Given the description of an element on the screen output the (x, y) to click on. 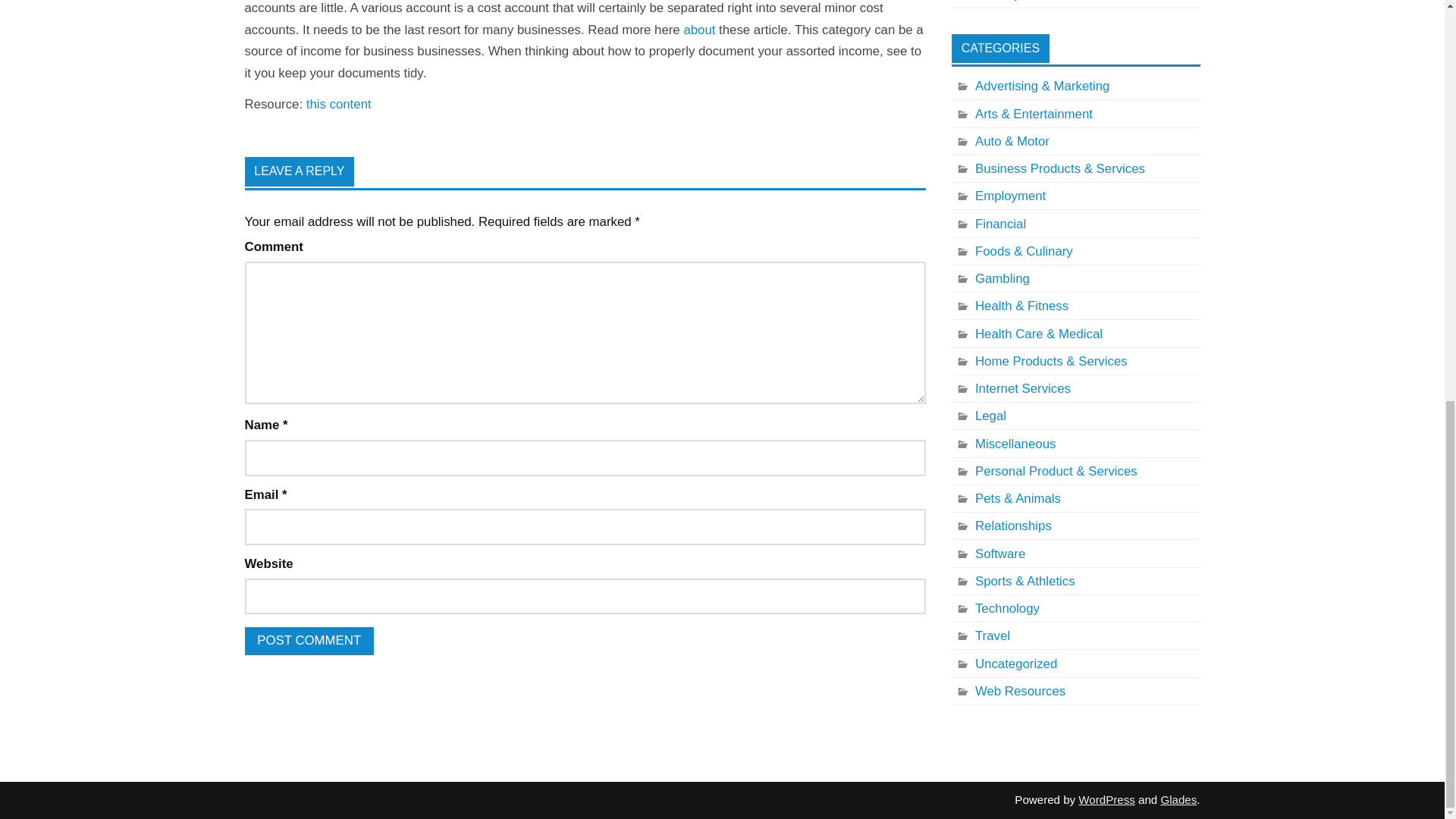
Employment (1000, 195)
Glades WordPress Theme (1178, 799)
Post Comment (308, 641)
Post Comment (308, 641)
January 2022 (1003, 2)
this content (338, 104)
about (698, 29)
WordPress (1106, 799)
